Given the description of an element on the screen output the (x, y) to click on. 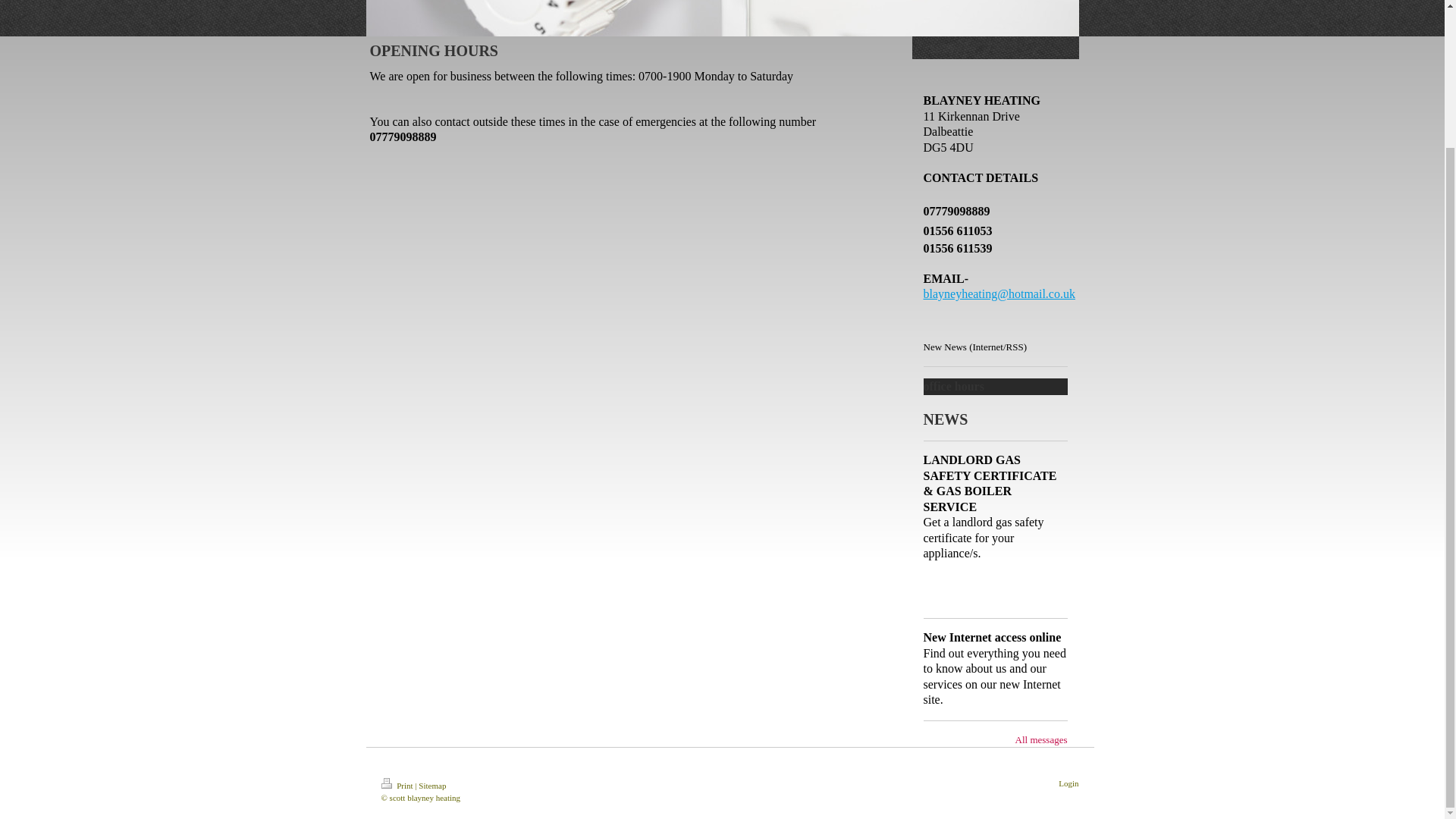
Sitemap (432, 785)
Login (1068, 782)
Print (397, 785)
All messages (1040, 739)
